Given the description of an element on the screen output the (x, y) to click on. 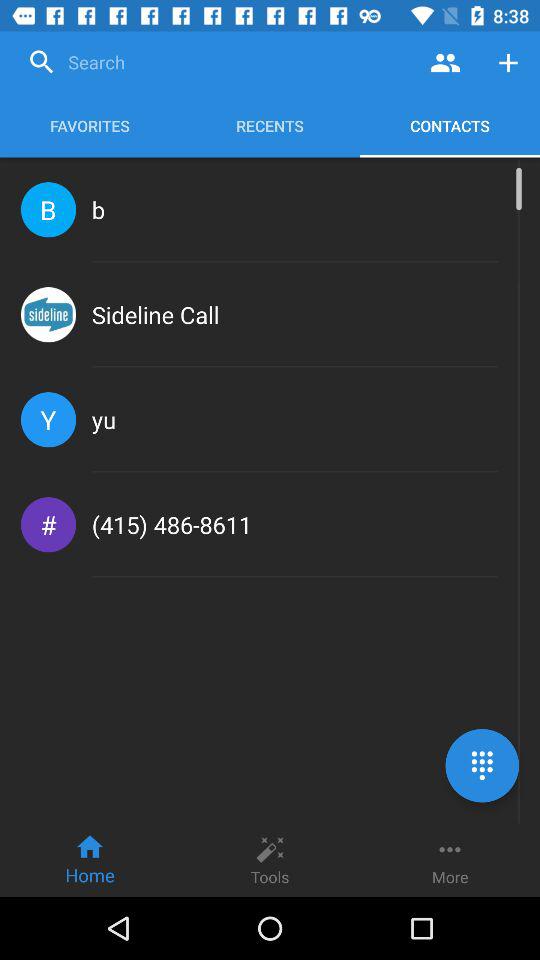
jump to y icon (48, 419)
